Given the description of an element on the screen output the (x, y) to click on. 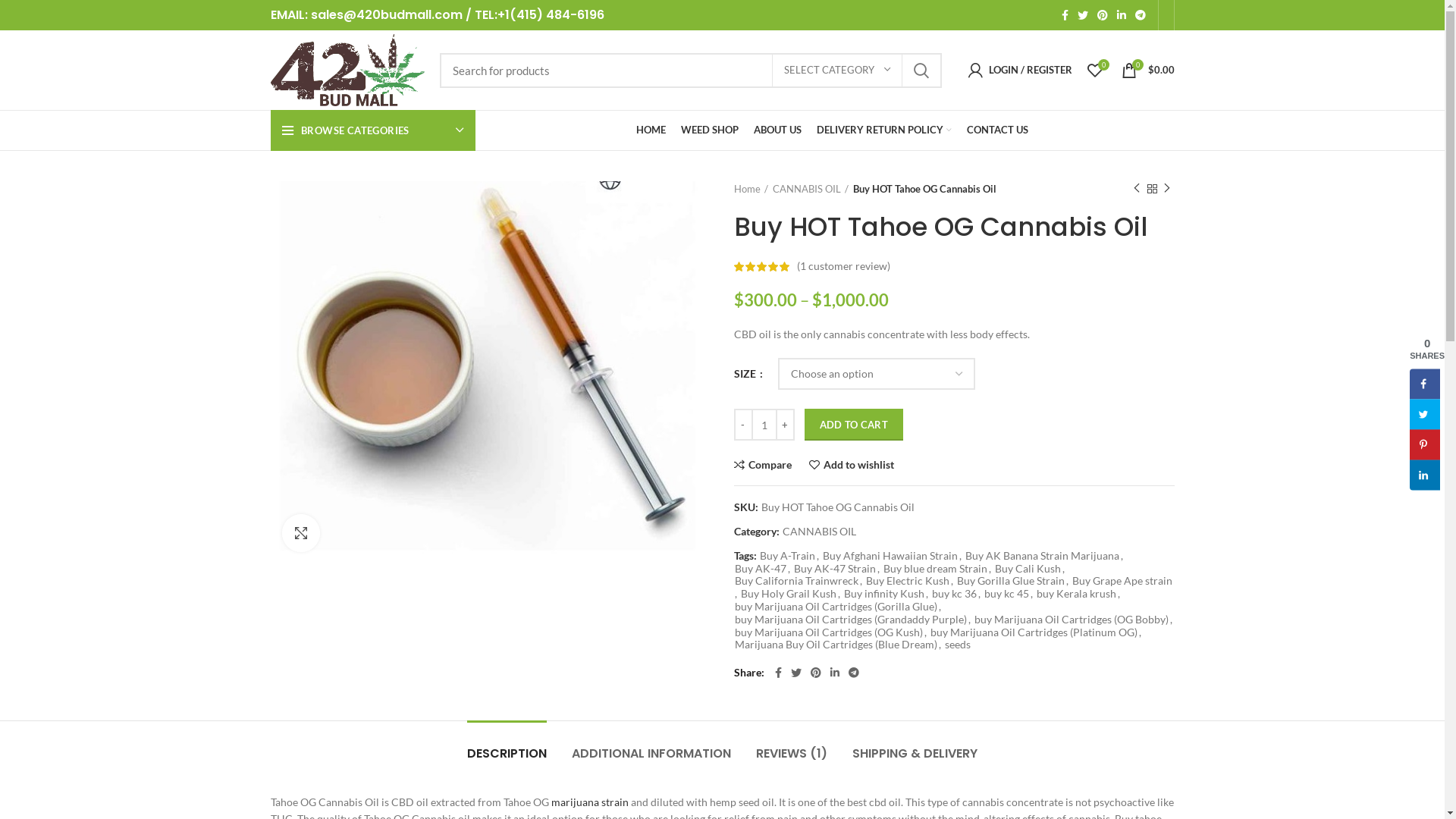
REVIEWS (1) Element type: text (791, 746)
Buy blue dream Strain Element type: text (934, 568)
Buy Electric Kush Element type: text (907, 580)
buy Marijuana Oil Cartridges (Gorilla Glue) Element type: text (835, 606)
buy Marijuana Oil Cartridges (OG Kush) Element type: text (828, 632)
Compare Element type: text (762, 464)
buy Marijuana Oil Cartridges (Grandaddy Purple) Element type: text (850, 619)
SEARCH Element type: text (921, 70)
buy Marijuana Oil Cartridges (OG Bobby) Element type: text (1070, 619)
Share on LinkedIn Element type: hover (1424, 474)
seeds Element type: text (957, 644)
HOME Element type: text (650, 130)
Buy infinity Kush Element type: text (883, 593)
0 Element type: text (1094, 69)
WEED SHOP Element type: text (709, 130)
Buy Gorilla Glue Strain Element type: text (1010, 580)
(1 customer review) Element type: text (842, 265)
Buy AK-47 Strain Element type: text (834, 568)
buy Marijuana Oil Cartridges (Platinum OG) Element type: text (1032, 632)
Buy California Trainwreck Element type: text (795, 580)
Add to wishlist Element type: text (850, 464)
buy kc 45 Element type: text (1006, 593)
HOT Tahoe OG Cannabis Oil Element type: hover (490, 370)
Share on Twitter Element type: hover (1424, 413)
Buy AK-47 Element type: text (759, 568)
CANNABIS OIL Element type: text (819, 531)
Buy Afghani Hawaiian Strain Element type: text (889, 555)
buy Kerala krush Element type: text (1075, 593)
SHIPPING & DELIVERY Element type: text (914, 746)
Qty Element type: hover (763, 424)
CANNABIS OIL Element type: text (809, 188)
SELECT CATEGORY Element type: text (836, 70)
Share on Facebook Element type: hover (1424, 383)
Home Element type: text (751, 188)
Save to Pinterest Element type: hover (1424, 444)
Buy Holy Grail Kush Element type: text (787, 593)
Buy Cali Kush Element type: text (1027, 568)
Marijuana Buy Oil Cartridges (Blue Dream) Element type: text (835, 644)
Buy A-Train Element type: text (787, 555)
0
$0.00 Element type: text (1147, 69)
CONTACT US Element type: text (997, 130)
Buy Grape Ape strain Element type: text (1122, 580)
buy kc 36 Element type: text (953, 593)
Next product Element type: text (1165, 188)
ADD TO CART Element type: text (852, 424)
ABOUT US Element type: text (777, 130)
LOGIN / REGISTER Element type: text (1019, 69)
ADDITIONAL INFORMATION Element type: text (651, 746)
Previous product Element type: text (1135, 188)
Buy AK Banana Strain Marijuana Element type: text (1041, 555)
DESCRIPTION Element type: text (506, 746)
Search for products Element type: hover (690, 70)
DELIVERY RETURN POLICY Element type: text (884, 130)
marijuana strain Element type: text (588, 801)
